Given the description of an element on the screen output the (x, y) to click on. 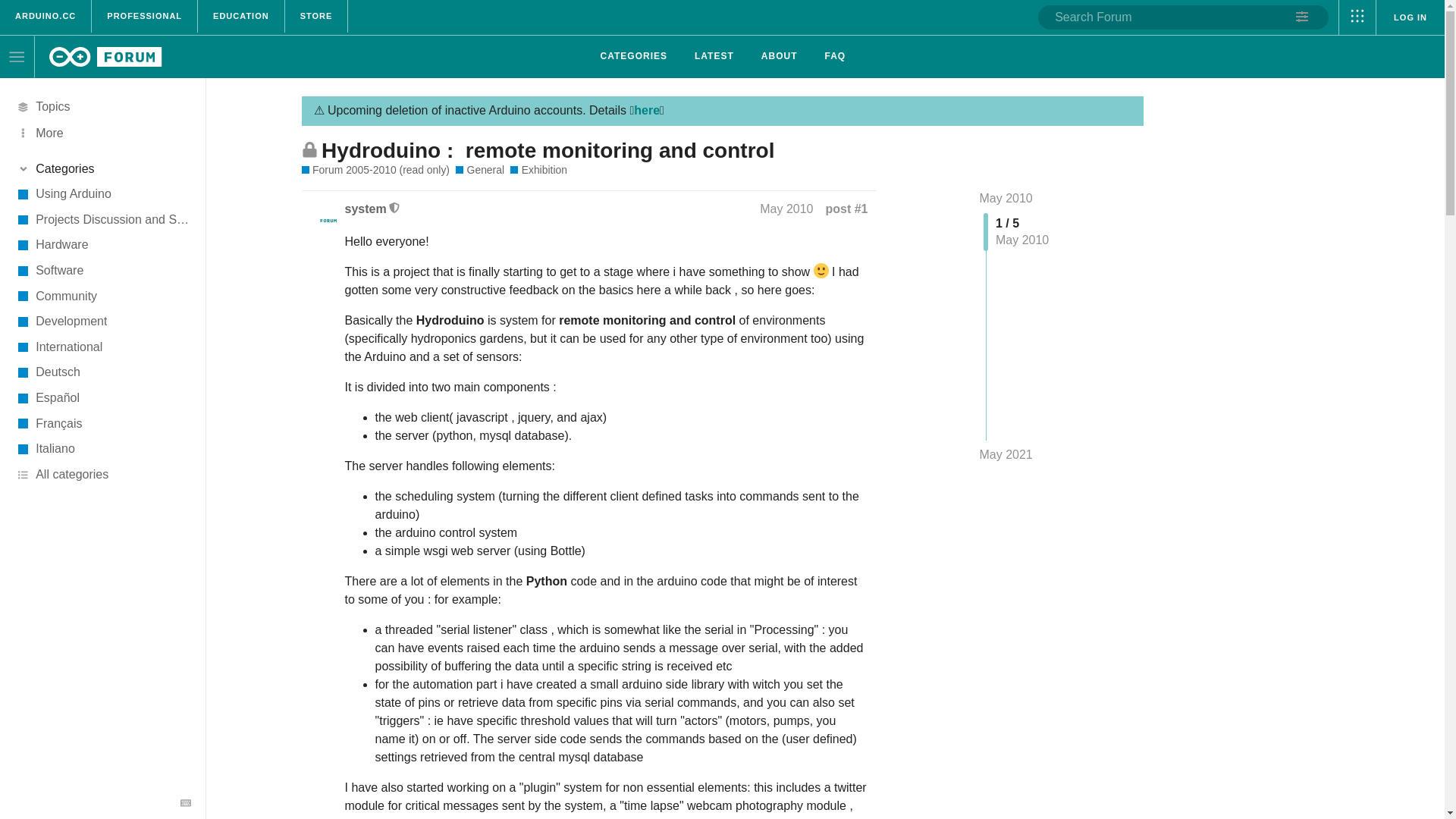
Keyboard Shortcuts (186, 802)
Development (102, 321)
General (479, 169)
Post date (792, 208)
May 15, 2010 9:04 am (786, 208)
Toggle section (102, 168)
Hardware (102, 245)
Software (102, 270)
International (102, 347)
Open advanced search (1303, 17)
This user is a moderator (394, 208)
Deutsch (102, 372)
More (102, 132)
STORE (317, 16)
